Given the description of an element on the screen output the (x, y) to click on. 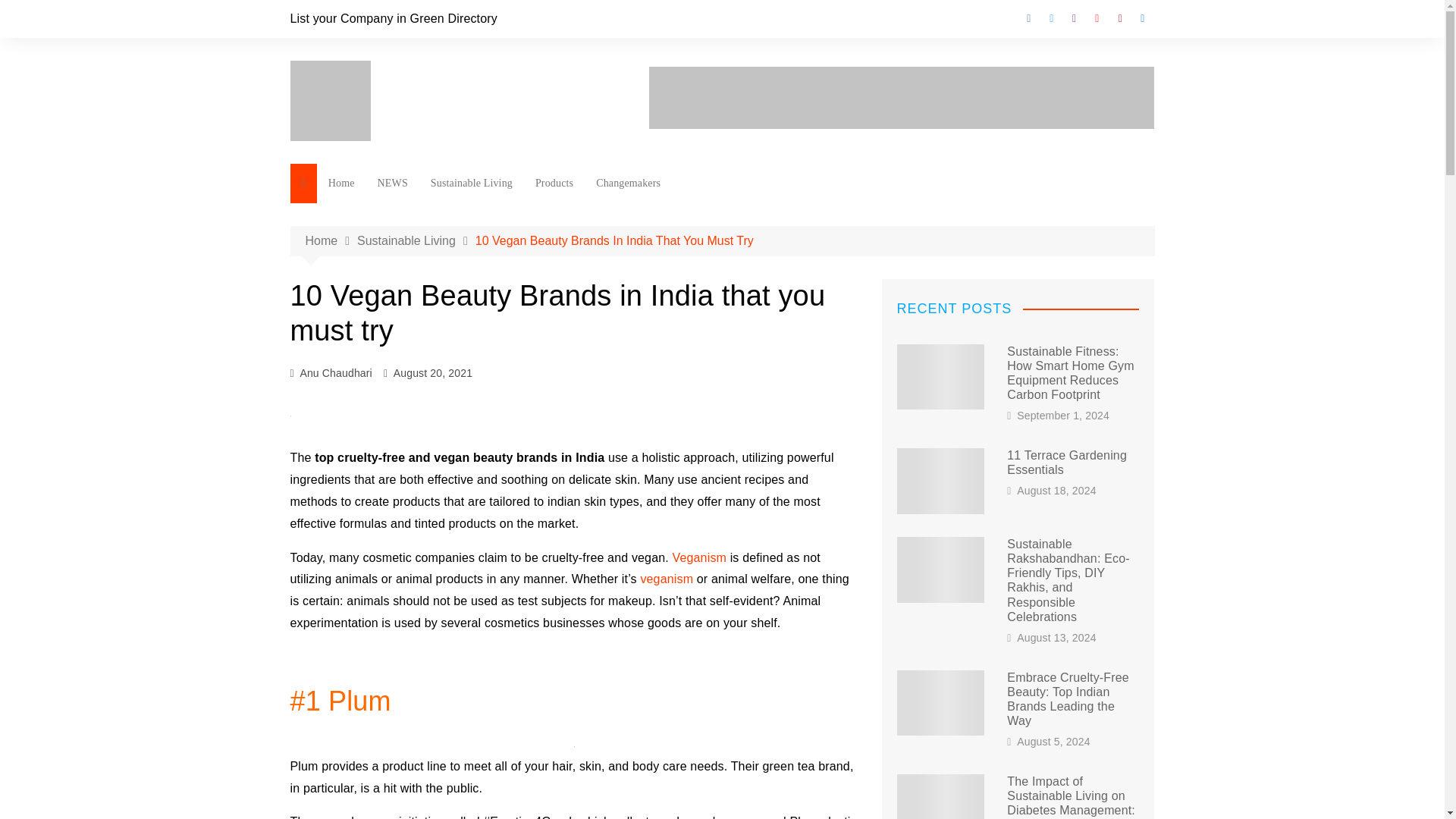
Facebook (1029, 18)
10 Vegan Beauty Brands In India That You Must Try (615, 240)
Home (330, 240)
List your Company in Green Directory (392, 18)
August 20, 2021 (432, 372)
Instagram (1074, 18)
Veganism (698, 557)
Home (341, 183)
Twitter (1051, 18)
Linkedin (1142, 18)
